Given the description of an element on the screen output the (x, y) to click on. 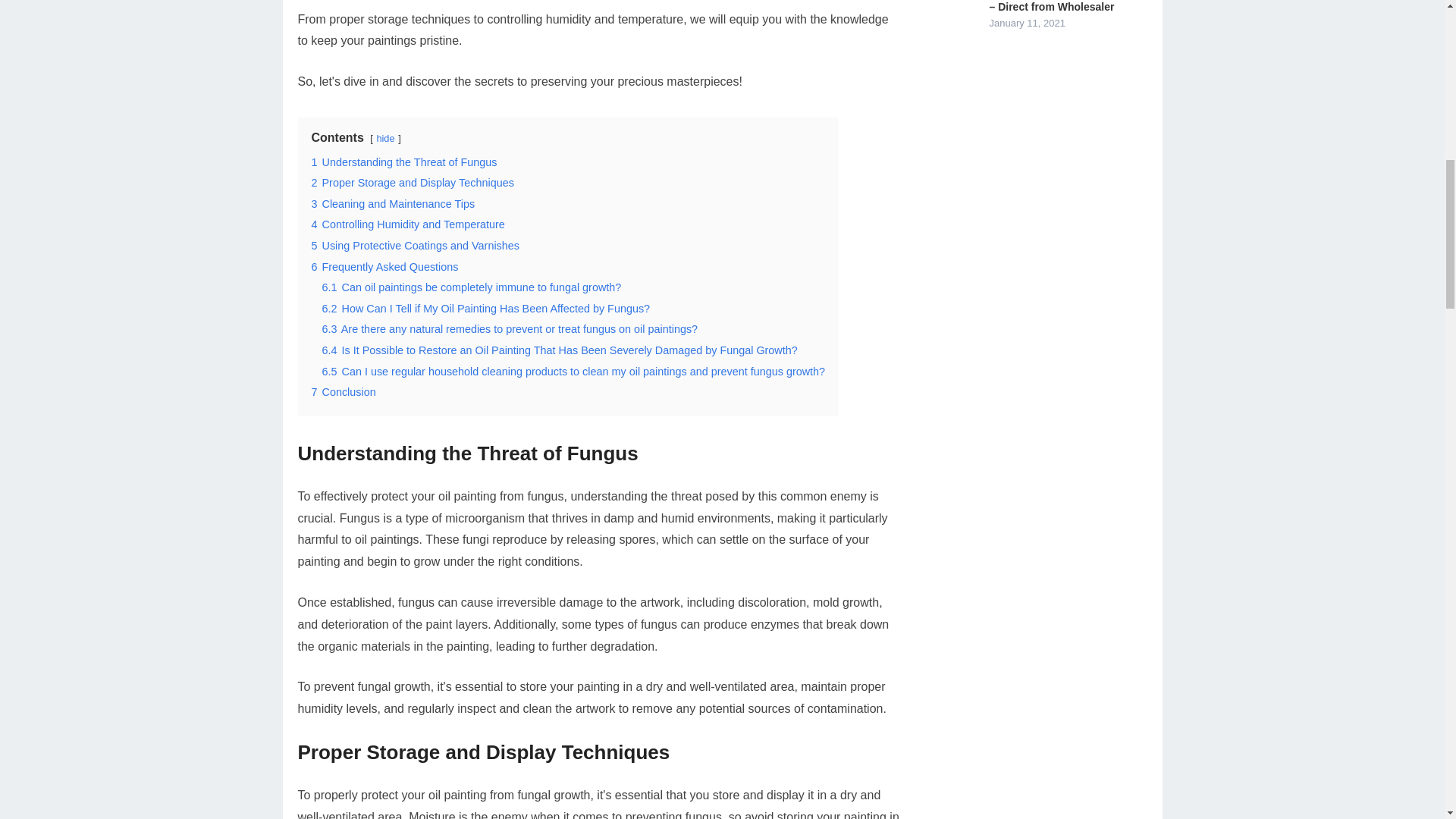
6 Frequently Asked Questions (384, 266)
2 Proper Storage and Display Techniques (412, 182)
6.1 Can oil paintings be completely immune to fungal growth? (471, 287)
1 Understanding the Threat of Fungus (403, 162)
7 Conclusion (343, 391)
4 Controlling Humidity and Temperature (407, 224)
5 Using Protective Coatings and Varnishes (415, 245)
